Given the description of an element on the screen output the (x, y) to click on. 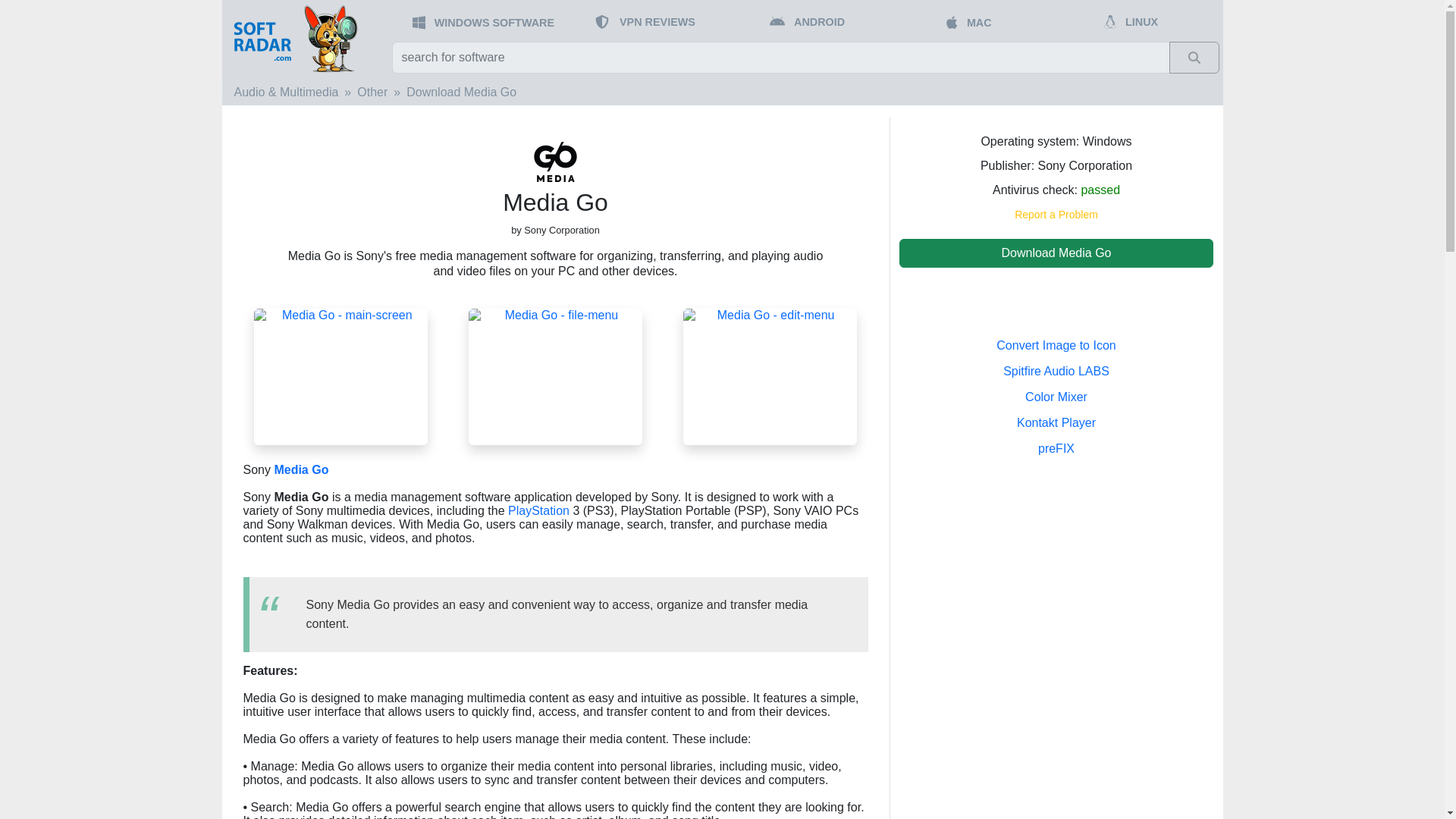
Media Go - edit-menu (769, 375)
Convert Image to Icon (1055, 345)
VPN REVIEWS (657, 21)
Convert Image to Icon (1055, 345)
Kontakt Player (1056, 422)
Color Mixer (1056, 396)
Media Go - file-menu (555, 375)
Color Mixer (1056, 396)
Search (1194, 57)
PlayStation (538, 510)
